Given the description of an element on the screen output the (x, y) to click on. 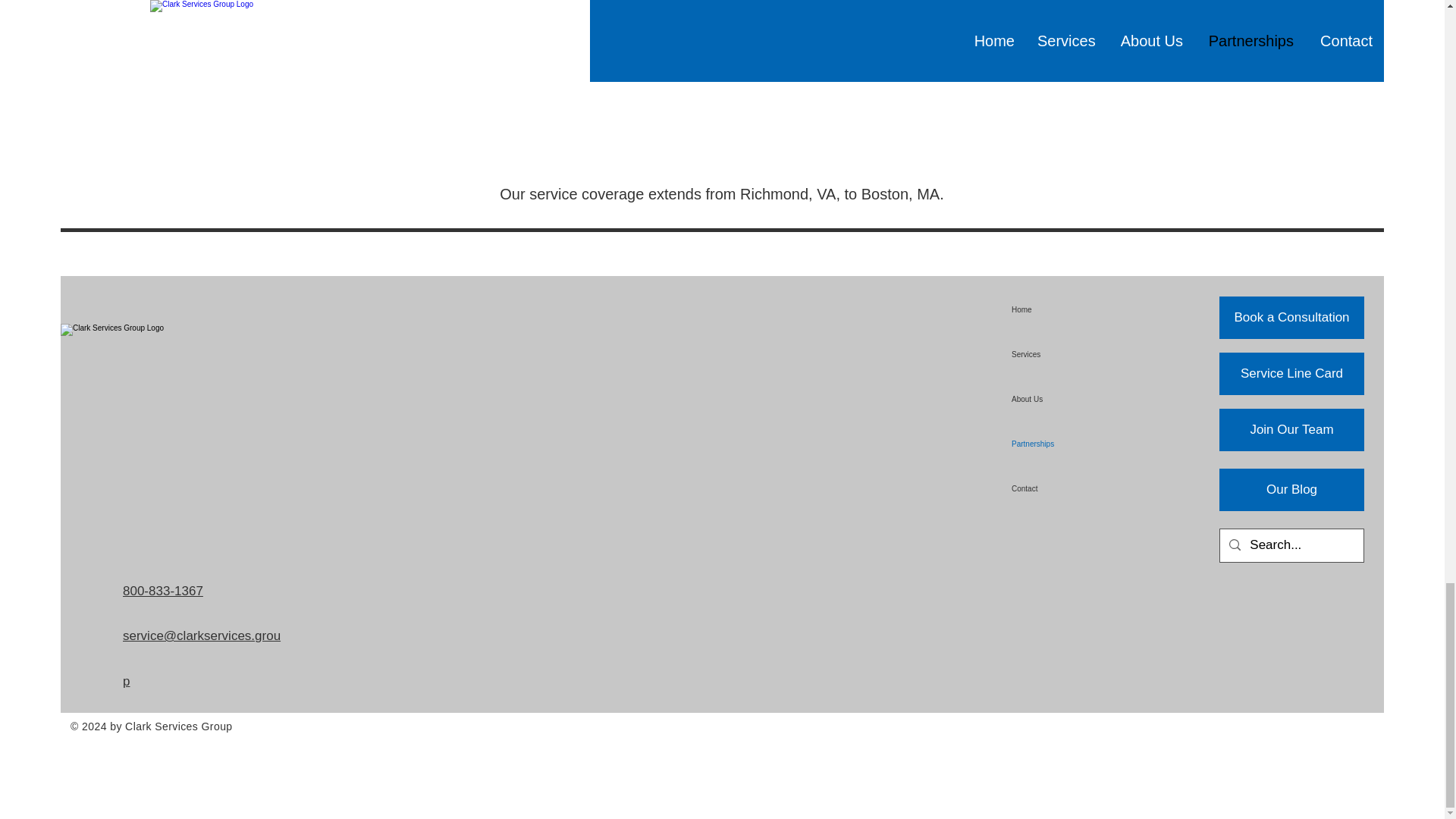
Screenshot 2024-03-27 at 7.17.41 AM.png (721, 89)
Join Our Team (1292, 429)
Service Line Card (1292, 373)
Book a Consultation (1292, 317)
800-833-1367 (162, 590)
Services (1052, 354)
About Us (1052, 398)
Our Blog (1292, 489)
Partnerships (1052, 443)
Home (1052, 309)
